Given the description of an element on the screen output the (x, y) to click on. 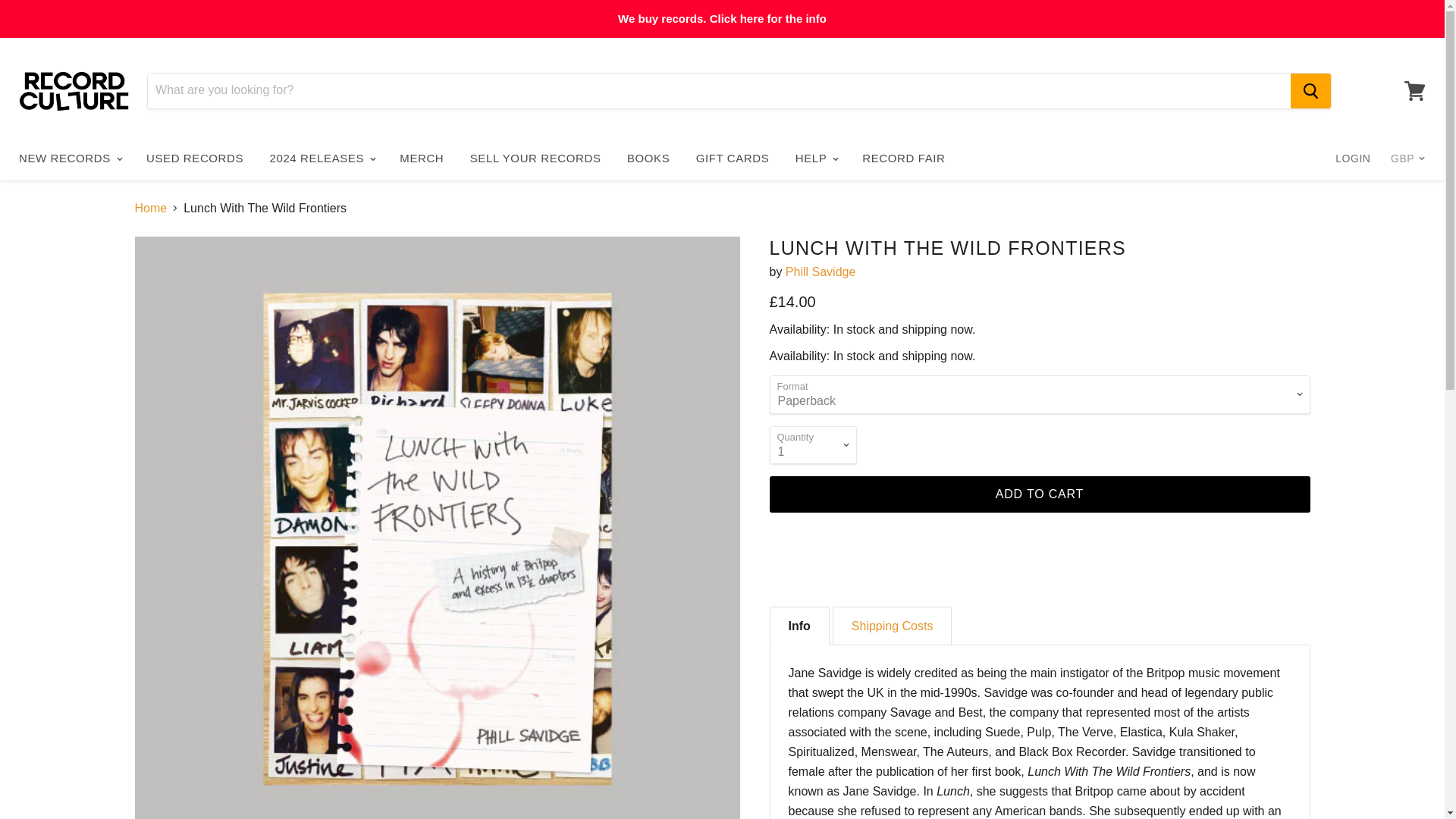
NEW RECORDS (69, 158)
Phill Savidge (821, 271)
USED RECORDS (194, 158)
2024 RELEASES (322, 158)
View cart (1414, 89)
